Given the description of an element on the screen output the (x, y) to click on. 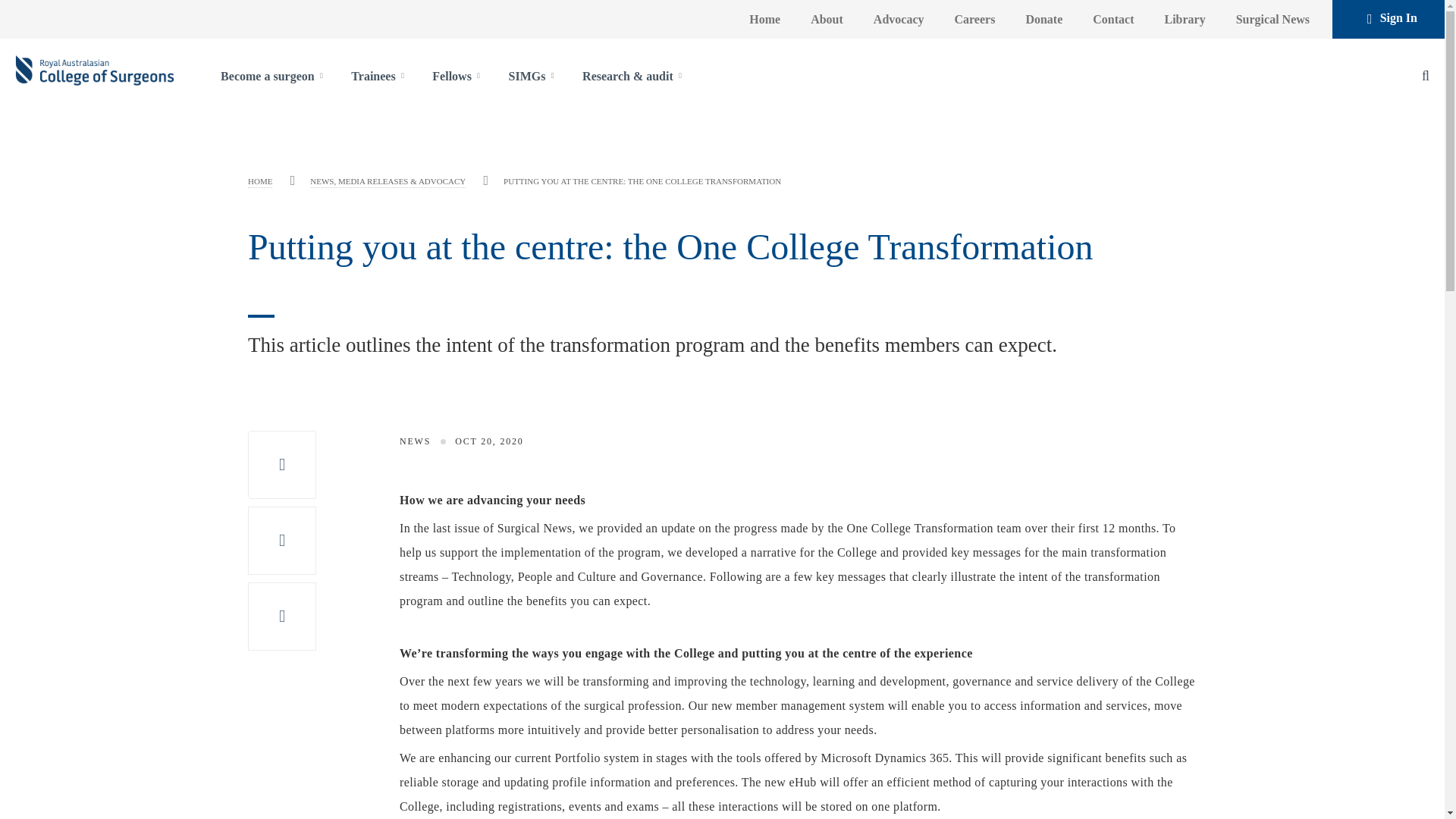
Home (760, 19)
Advocacy (895, 19)
SIMGs (527, 77)
Putting you at the centre: the One College Transformation (641, 182)
SIMGs (527, 77)
Home (259, 182)
About (823, 19)
Become a surgeon (267, 77)
Surgical News (1268, 19)
Logo Image (94, 75)
News (387, 182)
Fellows (451, 77)
Sign In (1391, 19)
Library (1181, 19)
Donate (1039, 19)
